Given the description of an element on the screen output the (x, y) to click on. 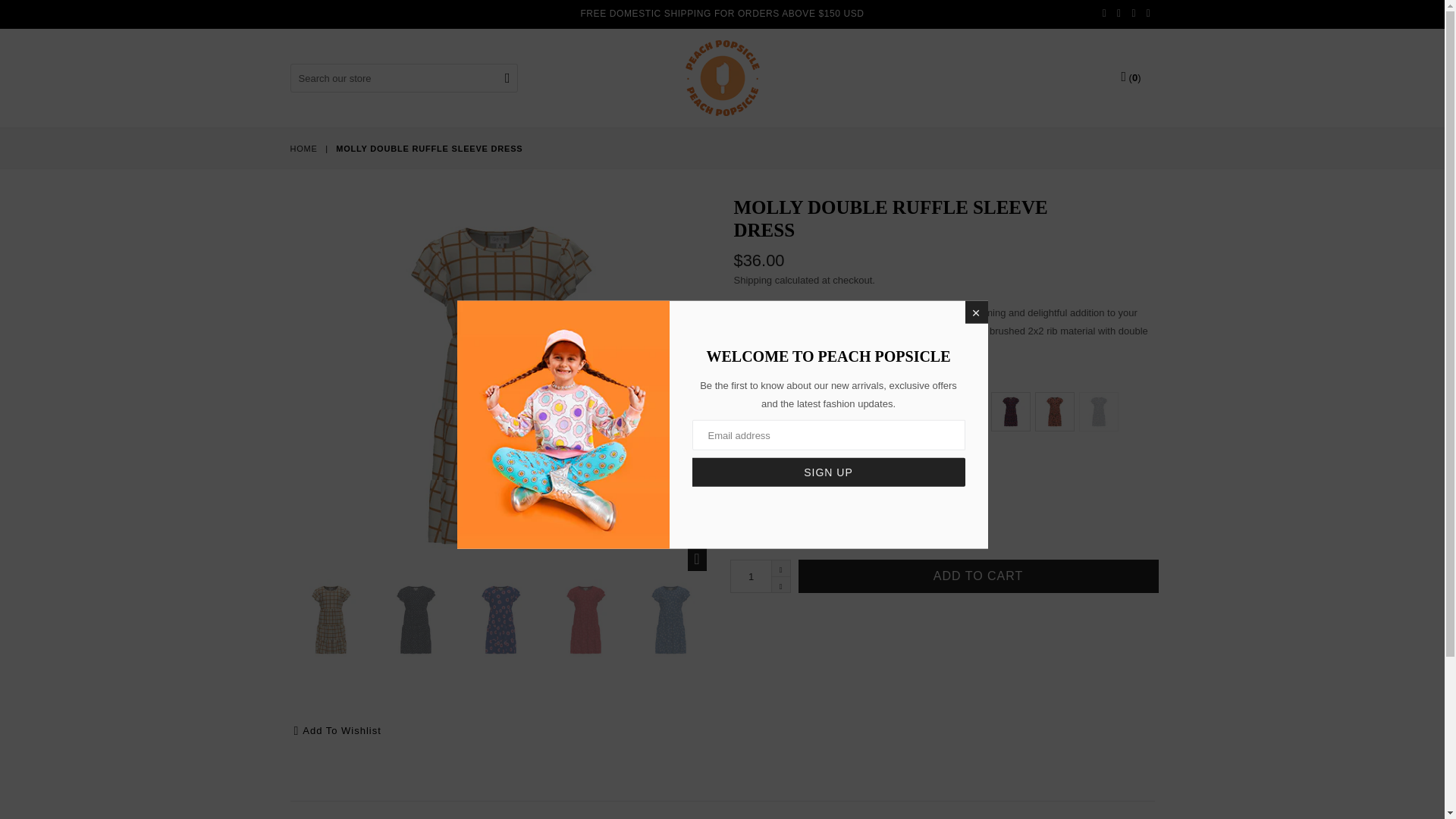
1 (760, 576)
Cart (1130, 77)
Add to Wishlist (336, 730)
Submit (508, 78)
Peach Popsicle  on Instagram (1149, 14)
Back to the home page (303, 148)
Facebook (1104, 14)
Instagram (1149, 14)
Peach Popsicle  on Twitter (1118, 14)
Peach Popsicle  on Pinterest (1133, 14)
Pinterest (1133, 14)
Twitter (1118, 14)
HOME (303, 148)
Peach Popsicle  on Facebook (1104, 14)
